Given the description of an element on the screen output the (x, y) to click on. 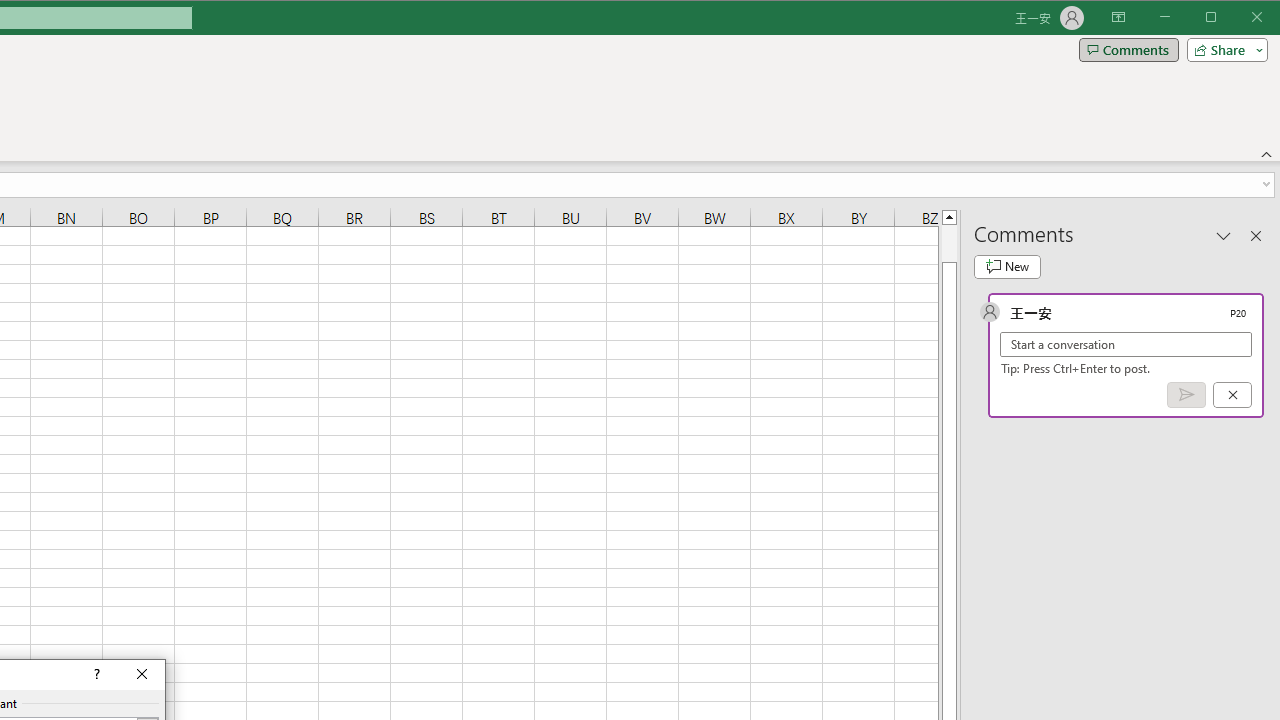
Start a conversation (1126, 344)
Post comment (Ctrl + Enter) (1186, 395)
Context help (95, 674)
Cancel (1232, 395)
Maximize (1239, 18)
